Given the description of an element on the screen output the (x, y) to click on. 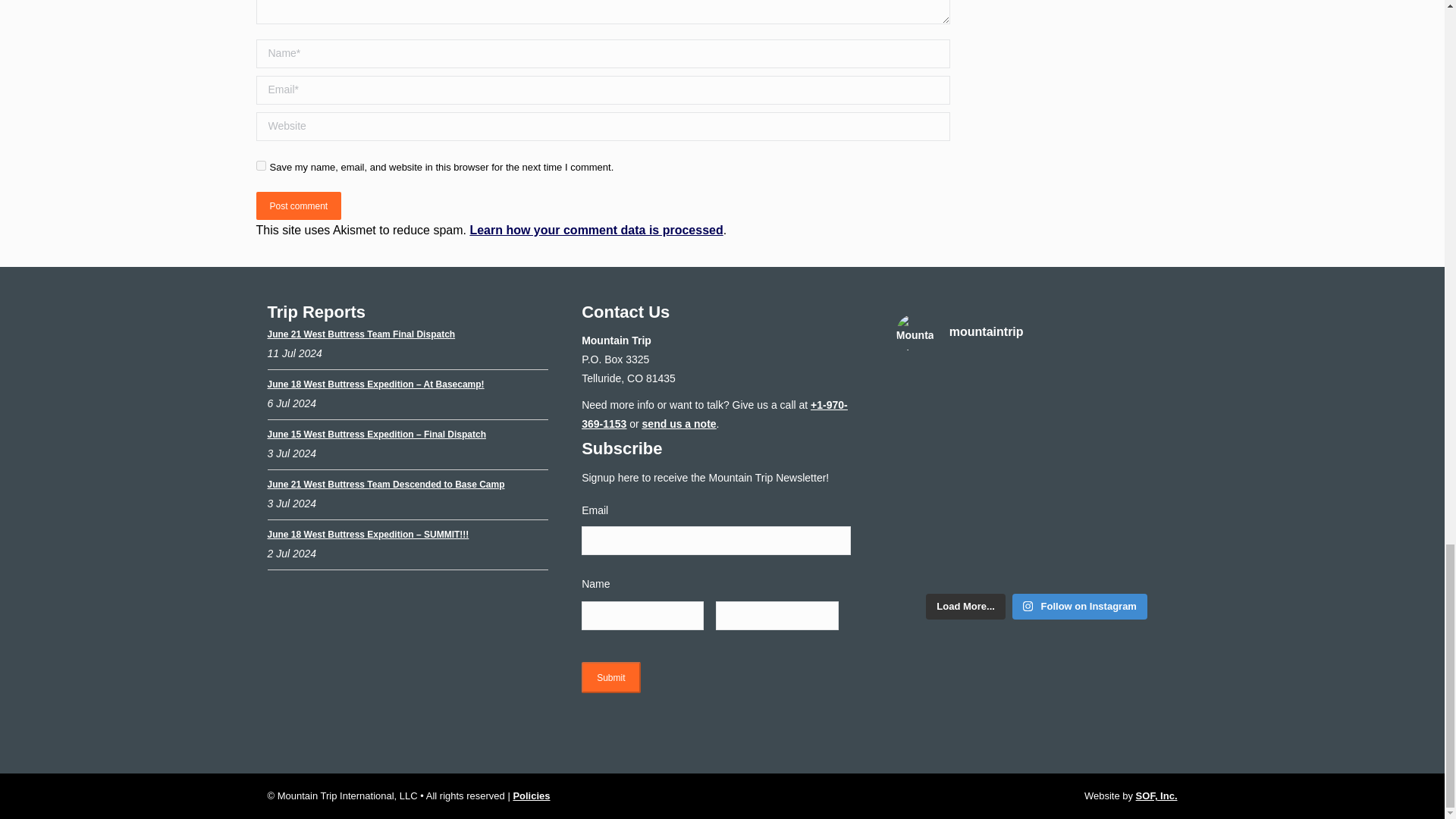
Submit (610, 676)
Permanent link to June 21 West Buttress Team Final Dispatch (360, 334)
yes (261, 165)
